Given the description of an element on the screen output the (x, y) to click on. 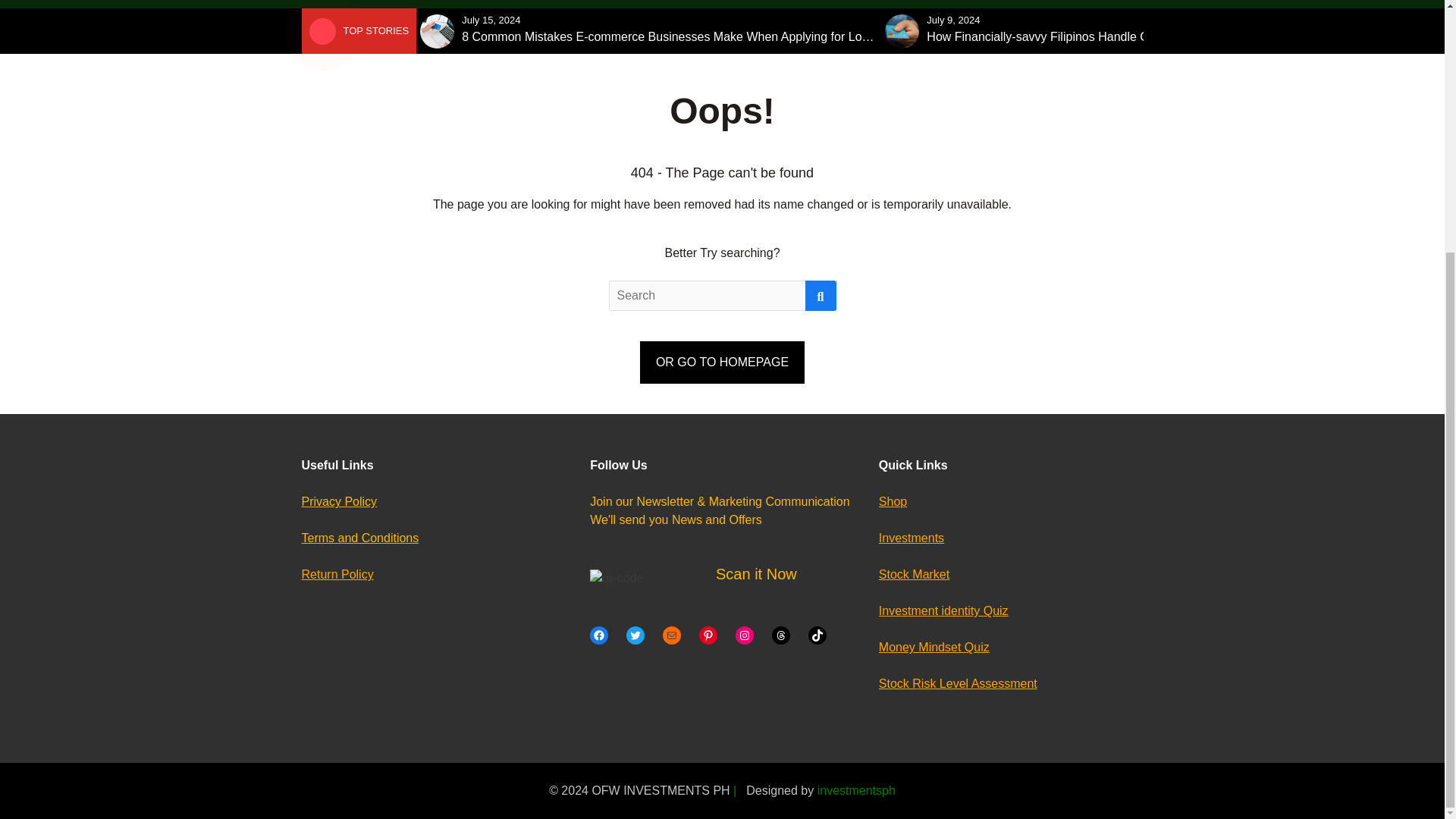
How Financially-savvy Filipinos Handle Credit Card Myths (1081, 36)
July 15, 2024 (490, 19)
July 9, 2024 (952, 19)
